Given the description of an element on the screen output the (x, y) to click on. 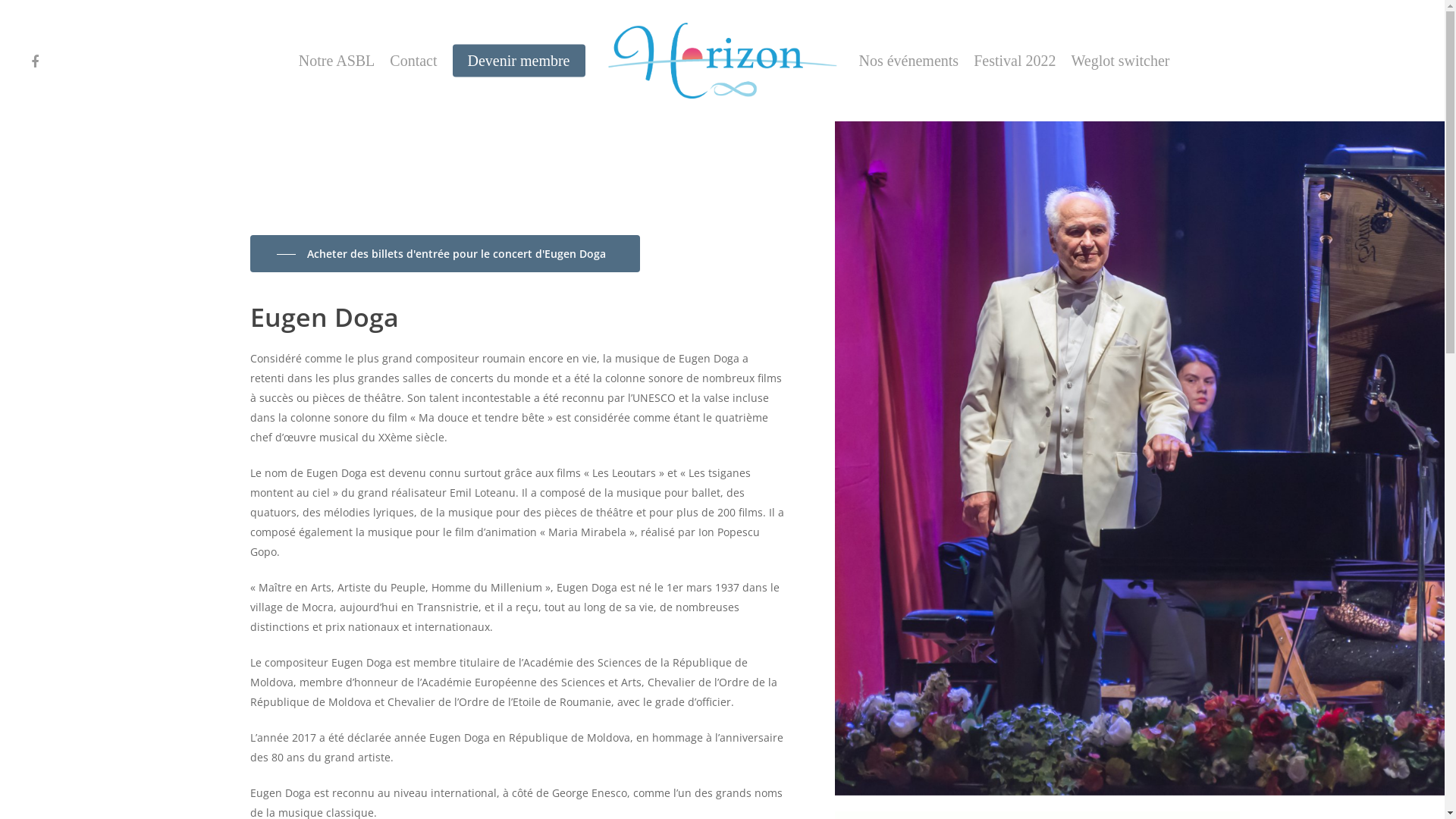
Contact Element type: text (412, 60)
+32 486 73.31.68 Element type: text (733, 594)
Notre ASBL Element type: text (336, 60)
Weglot switcher Element type: text (1119, 60)
Devenir membre Element type: text (518, 60)
Festival 2022 Element type: text (1014, 60)
